Given the description of an element on the screen output the (x, y) to click on. 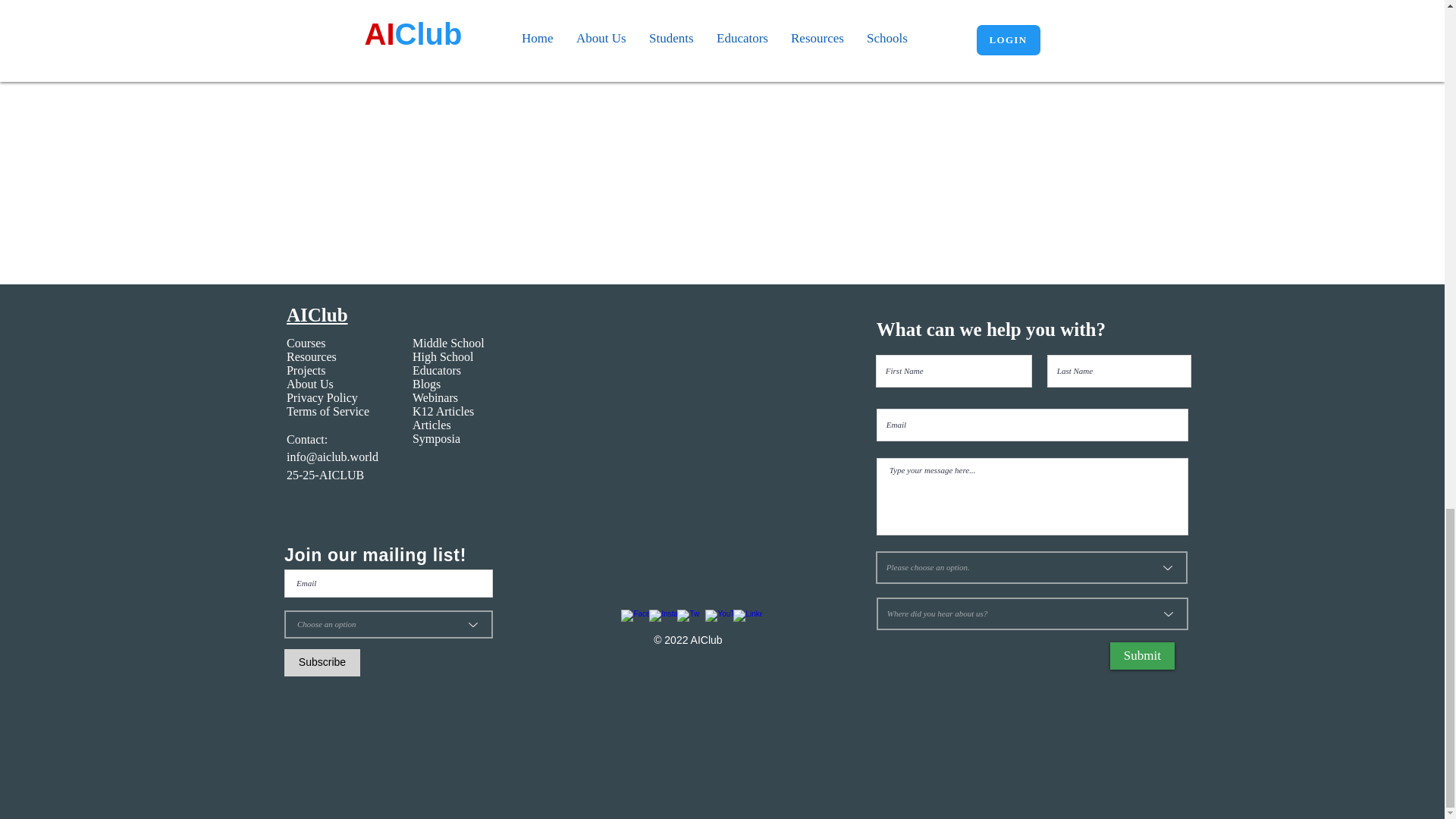
Middle School (448, 342)
Privacy Policy (322, 397)
Webinars  (436, 397)
AIClub (316, 314)
Articles (431, 424)
High School (442, 356)
Projects (306, 369)
Subscribe (321, 662)
Blogs (426, 383)
K12 Articles (443, 410)
